Given the description of an element on the screen output the (x, y) to click on. 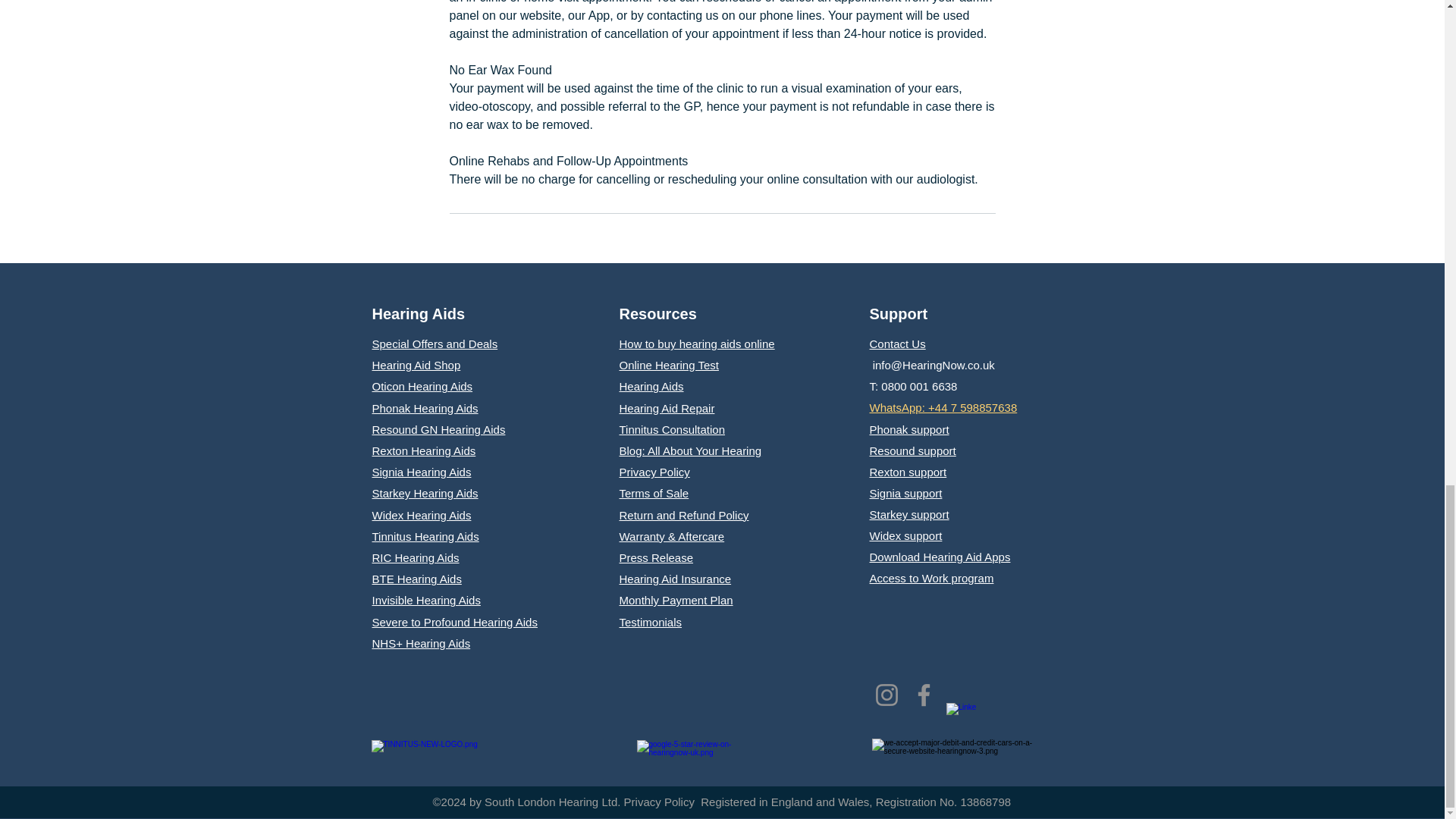
We prvide Tinnitus support ad consulation in South London (470, 753)
See HearngNow reviews and customer feedback on Google (685, 756)
